Given the description of an element on the screen output the (x, y) to click on. 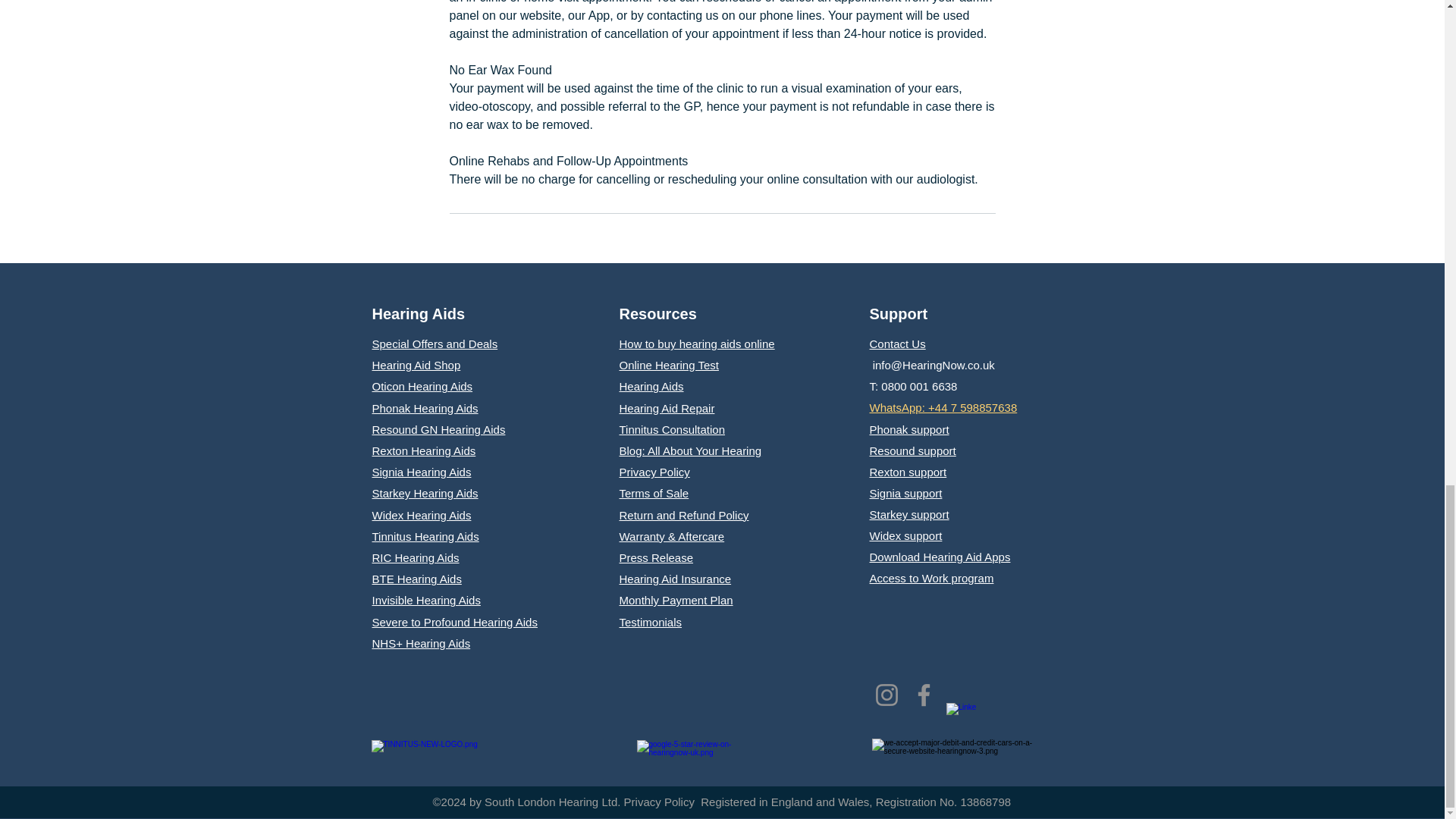
We prvide Tinnitus support ad consulation in South London (470, 753)
See HearngNow reviews and customer feedback on Google (685, 756)
